Given the description of an element on the screen output the (x, y) to click on. 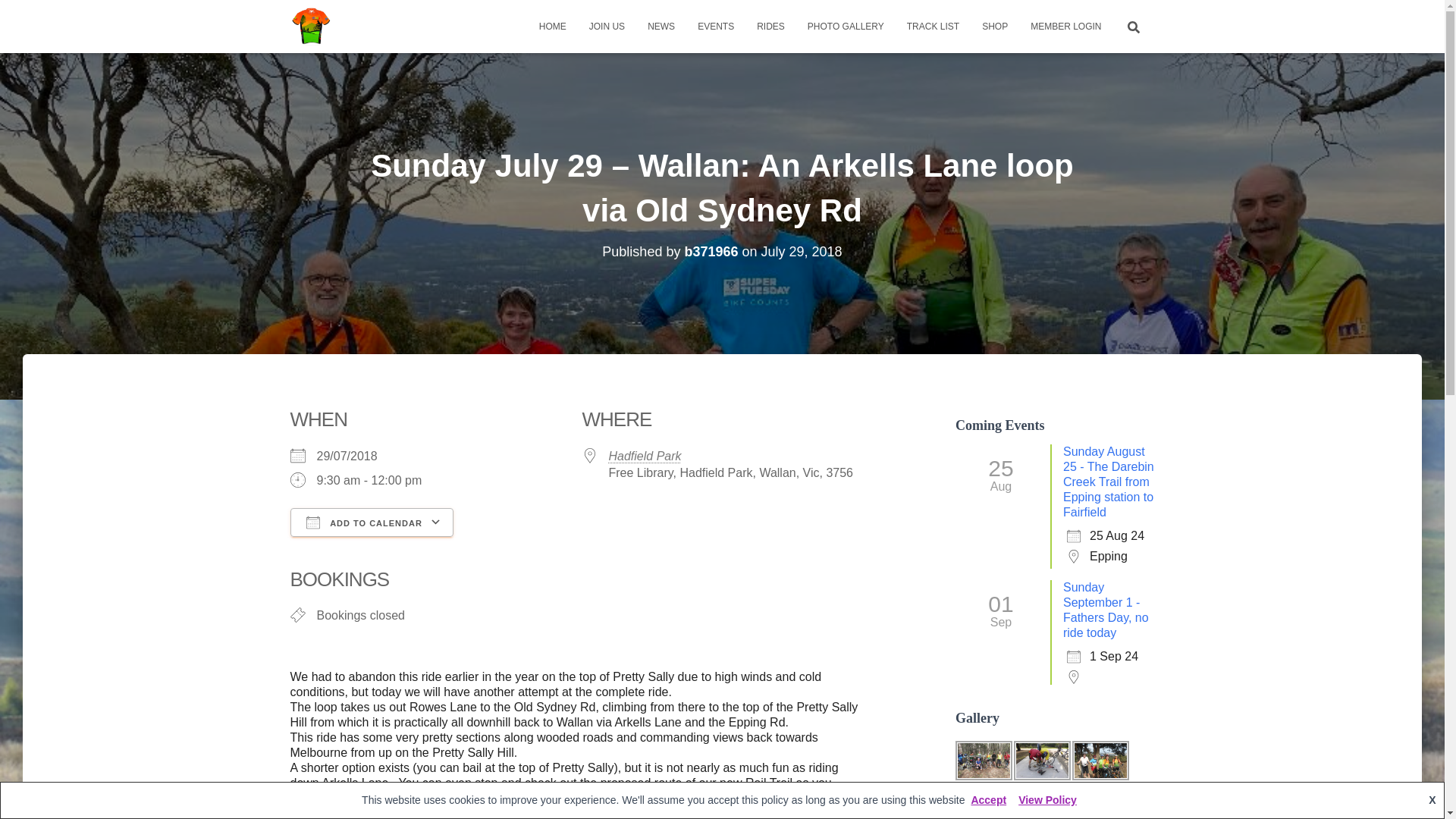
HOME (552, 26)
Rides (770, 26)
Mitchell Bicycle Users Group (311, 26)
MEMBER LOGIN (1065, 26)
PHOTO GALLERY (845, 26)
Join Us (607, 26)
b371966 (711, 251)
TRACK LIST (933, 26)
Shop (995, 26)
Photo Gallery (845, 26)
